Given the description of an element on the screen output the (x, y) to click on. 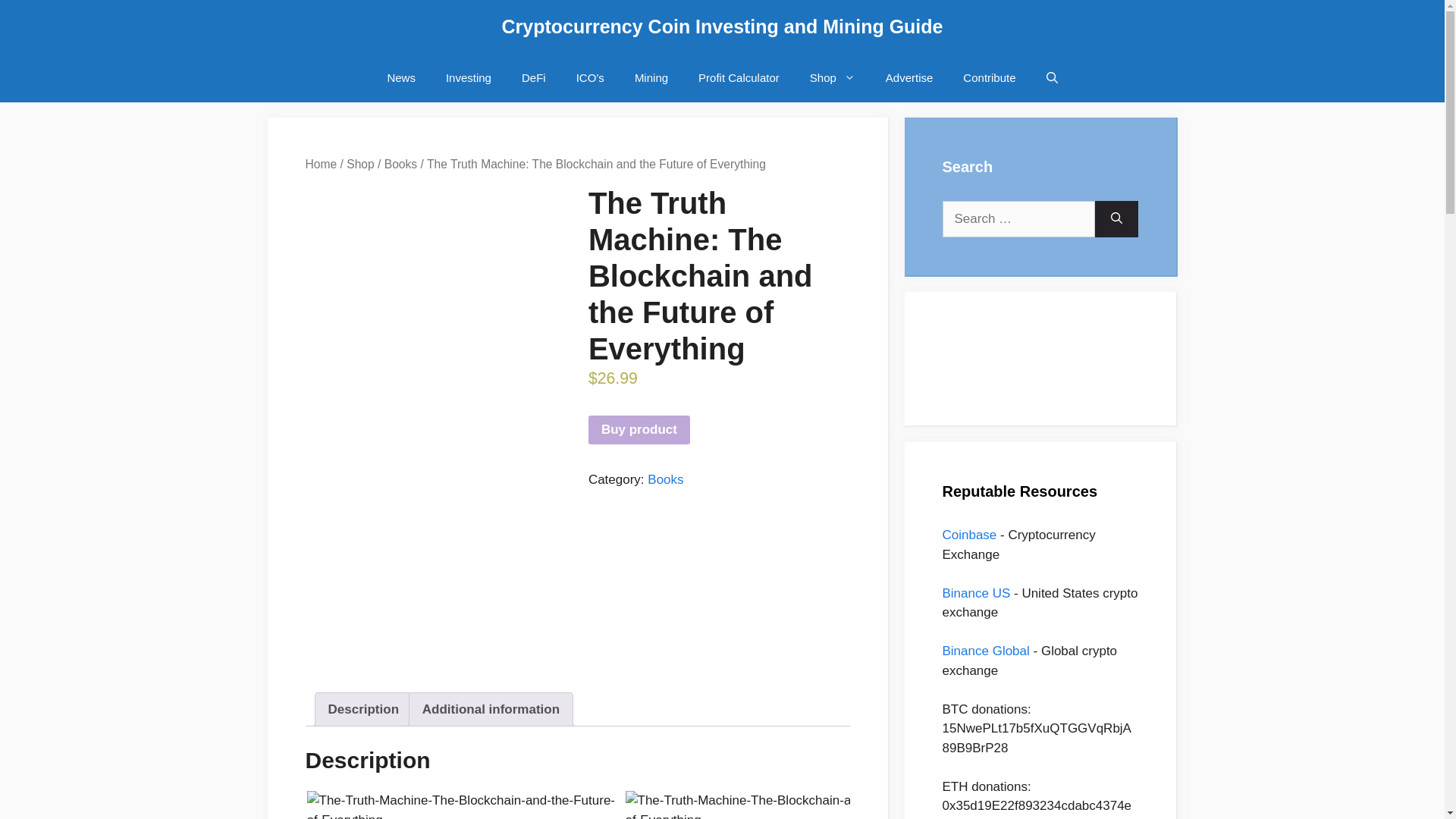
Shop (360, 164)
Search for: (1018, 218)
Description (362, 708)
Profit Calculator (738, 77)
Contribute (988, 77)
Cryptocurrency Coin Investing and Mining Guide (722, 25)
Books (400, 164)
News (400, 77)
Buy product (639, 429)
